Given the description of an element on the screen output the (x, y) to click on. 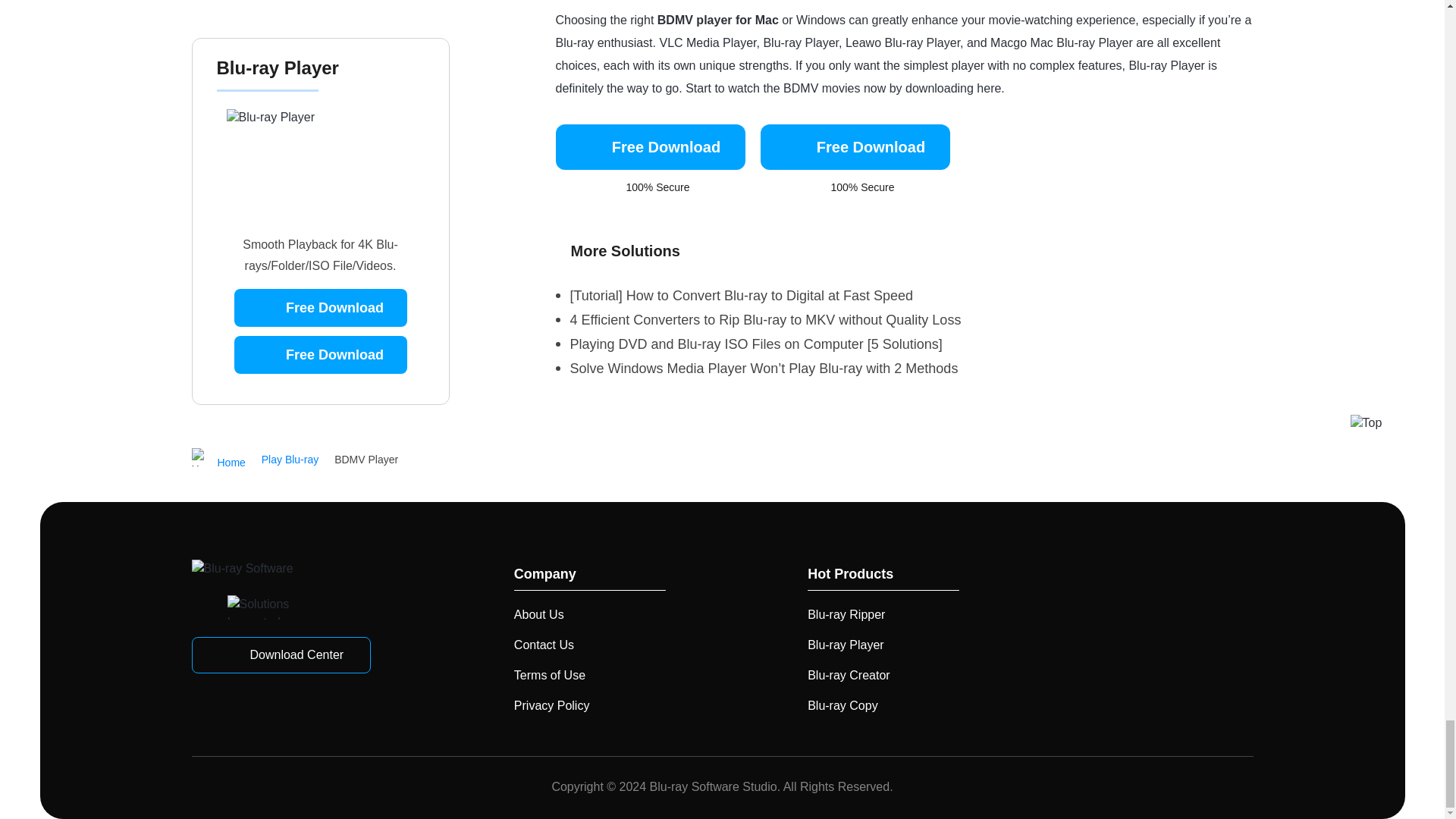
Free Download (649, 146)
Home (217, 459)
Free Download (854, 146)
